Given the description of an element on the screen output the (x, y) to click on. 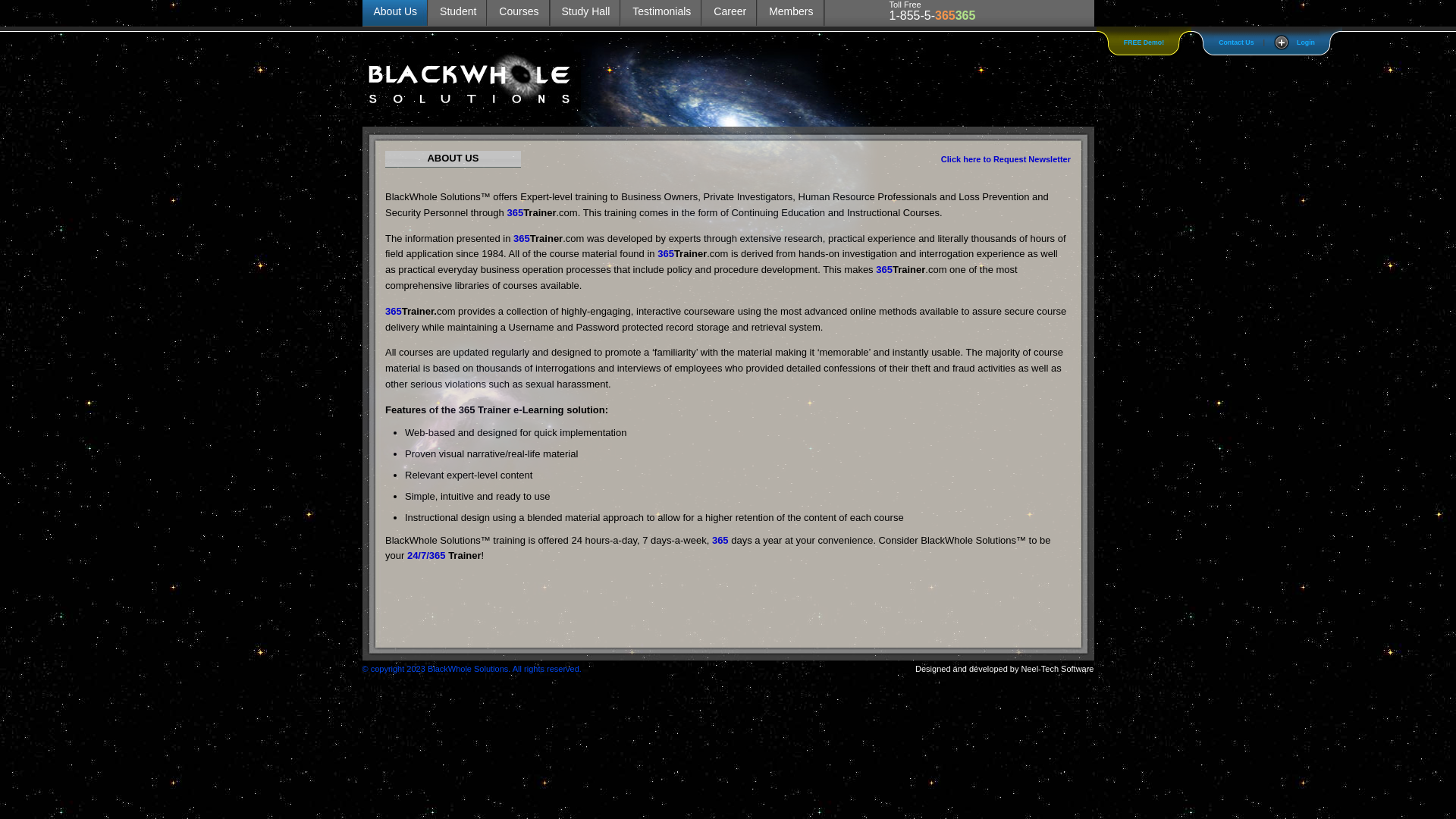
Study Hall Element type: text (585, 12)
Designed and developed by Neel-Tech Software Element type: text (1004, 668)
Login Element type: text (1294, 42)
Career Element type: text (729, 12)
Members Element type: text (790, 12)
Click here to Request Newsletter Element type: text (1005, 158)
Courses Element type: text (518, 12)
Testimonials Element type: text (661, 12)
Contact Us Element type: text (1235, 42)
Student Element type: text (457, 12)
FREE Demo! Element type: text (1143, 42)
About Us Element type: text (395, 12)
